Given the description of an element on the screen output the (x, y) to click on. 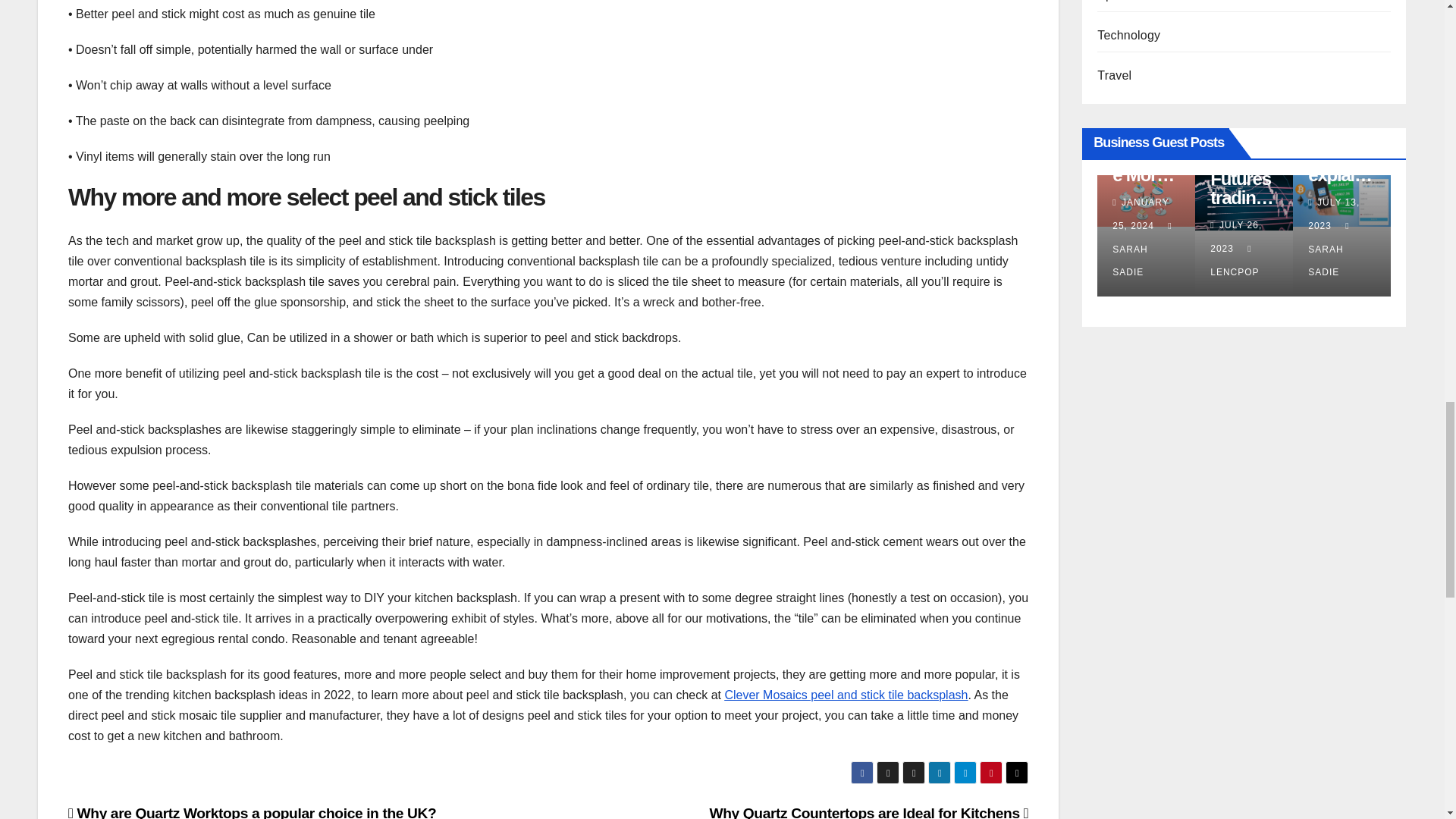
Why Quartz Countertops are Ideal for Kitchens (869, 812)
Clever Mosaics peel and stick tile backsplash (845, 694)
Why are Quartz Worktops a popular choice in the UK?  (253, 812)
